Given the description of an element on the screen output the (x, y) to click on. 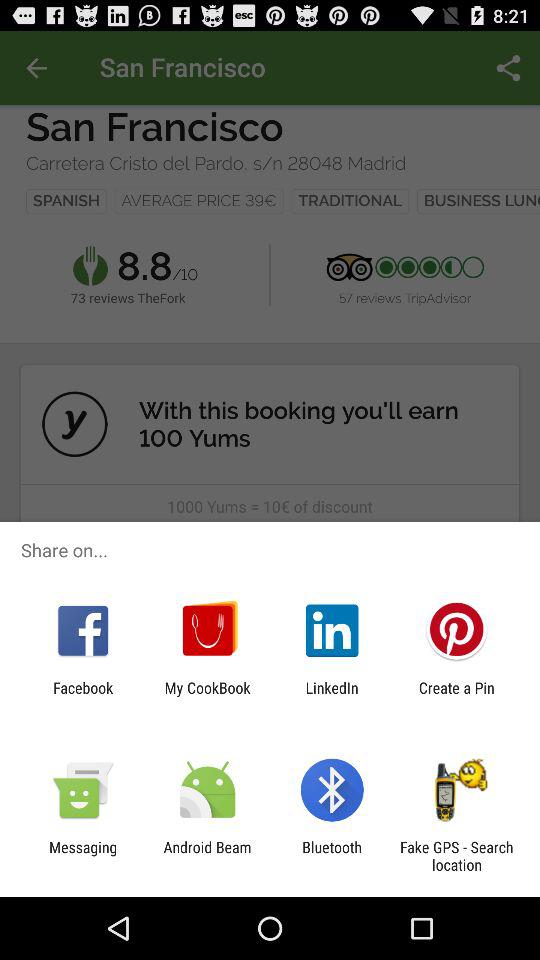
open facebook (83, 696)
